Given the description of an element on the screen output the (x, y) to click on. 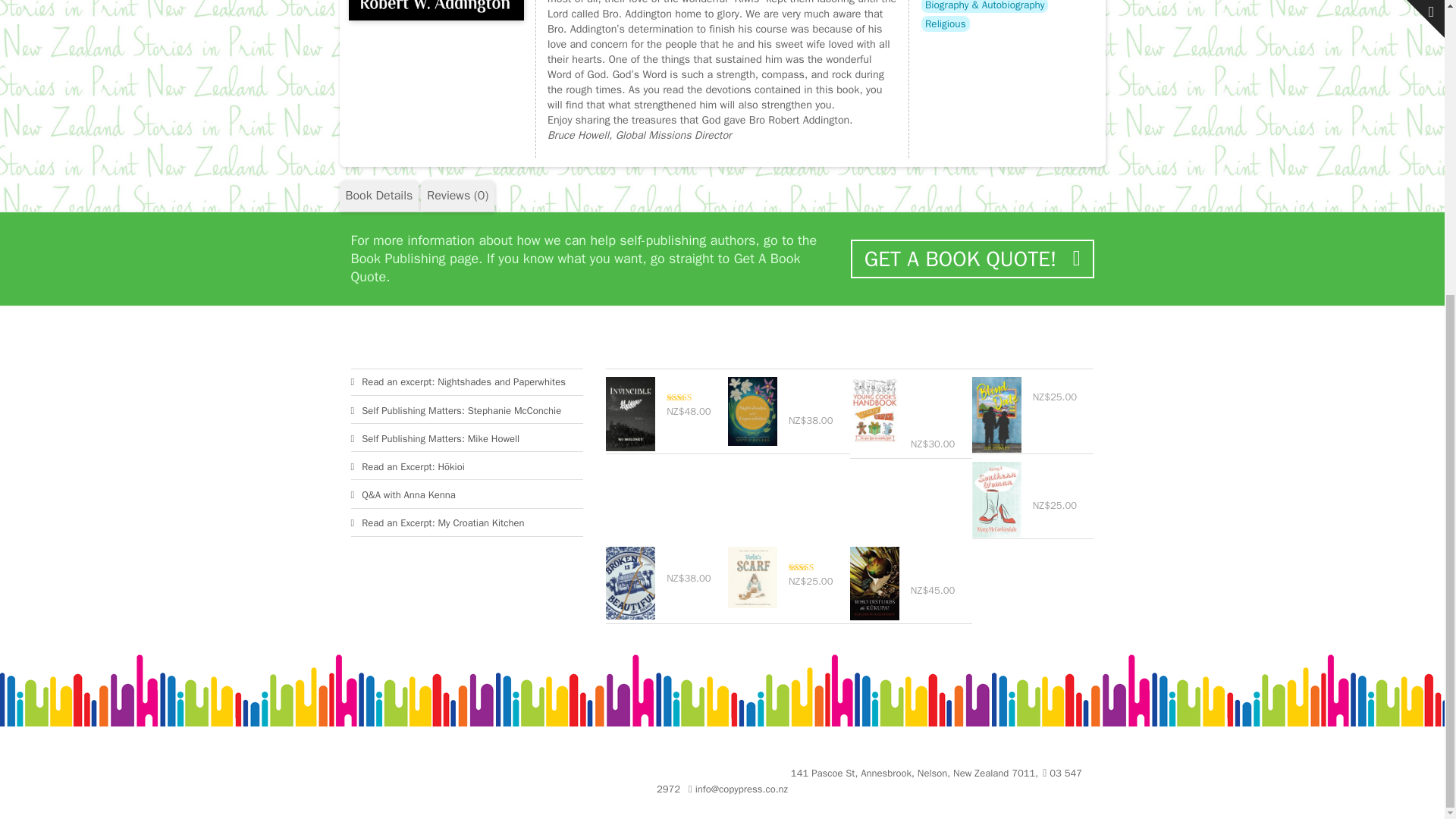
Cover Design - NZ - Final 2021-04-07 w ISBN.cdr (436, 10)
GET A BOOK QUOTE! (971, 258)
Religious (945, 23)
Book Details (379, 195)
